Given the description of an element on the screen output the (x, y) to click on. 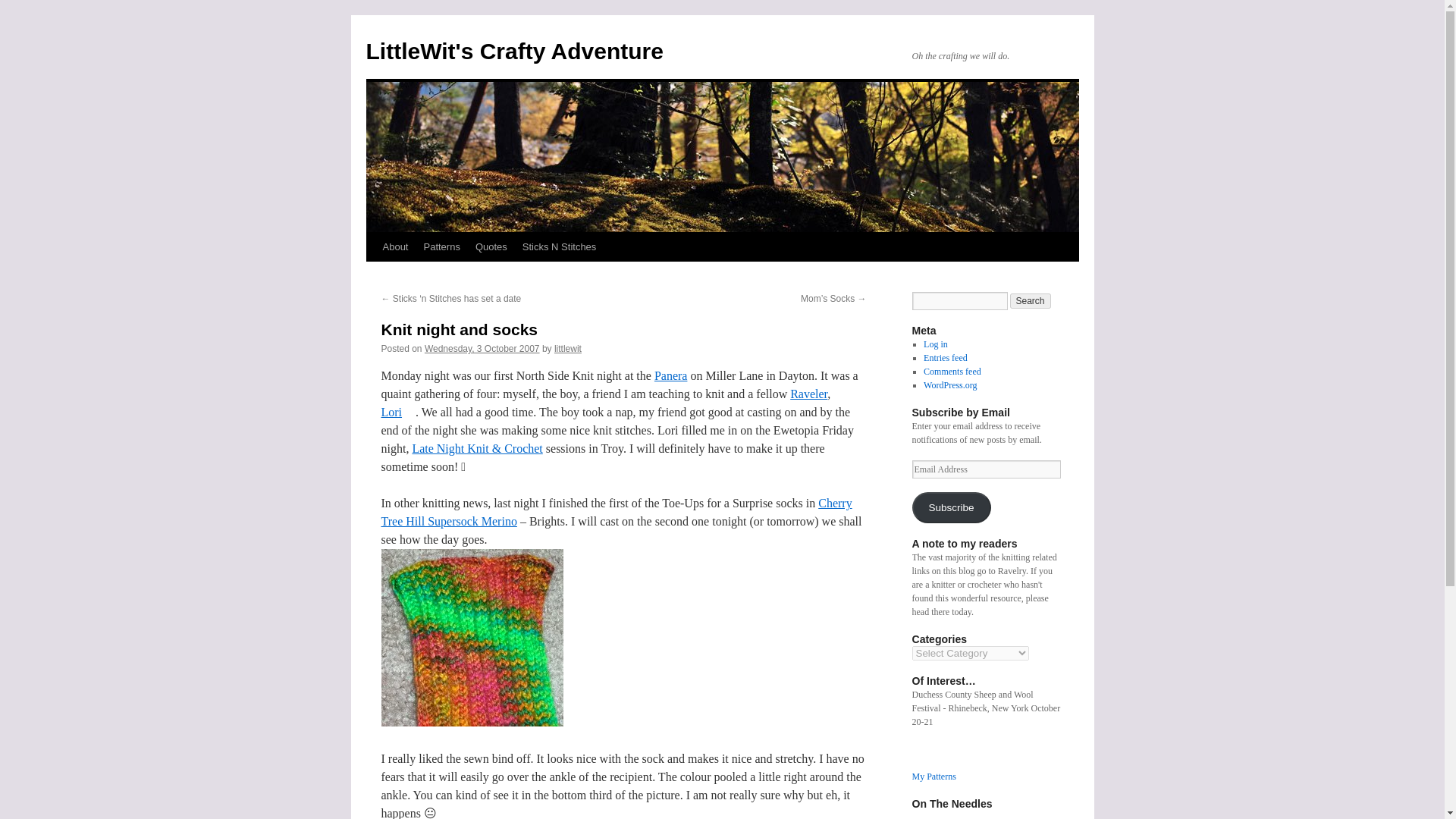
Comments feed (952, 371)
WordPress.org (949, 385)
Sticks N Stitches (559, 246)
CTH Supersock Merino (615, 511)
Subscribe (950, 507)
Lori (397, 411)
Entries feed (945, 357)
Search (1030, 300)
LittleWit's Crafty Adventure (513, 50)
littlewit (567, 348)
Wednesday, 3 October 2007 (482, 348)
Panera (670, 375)
Ewetopia Calendar (476, 448)
Patterns (440, 246)
Search (1030, 300)
